Given the description of an element on the screen output the (x, y) to click on. 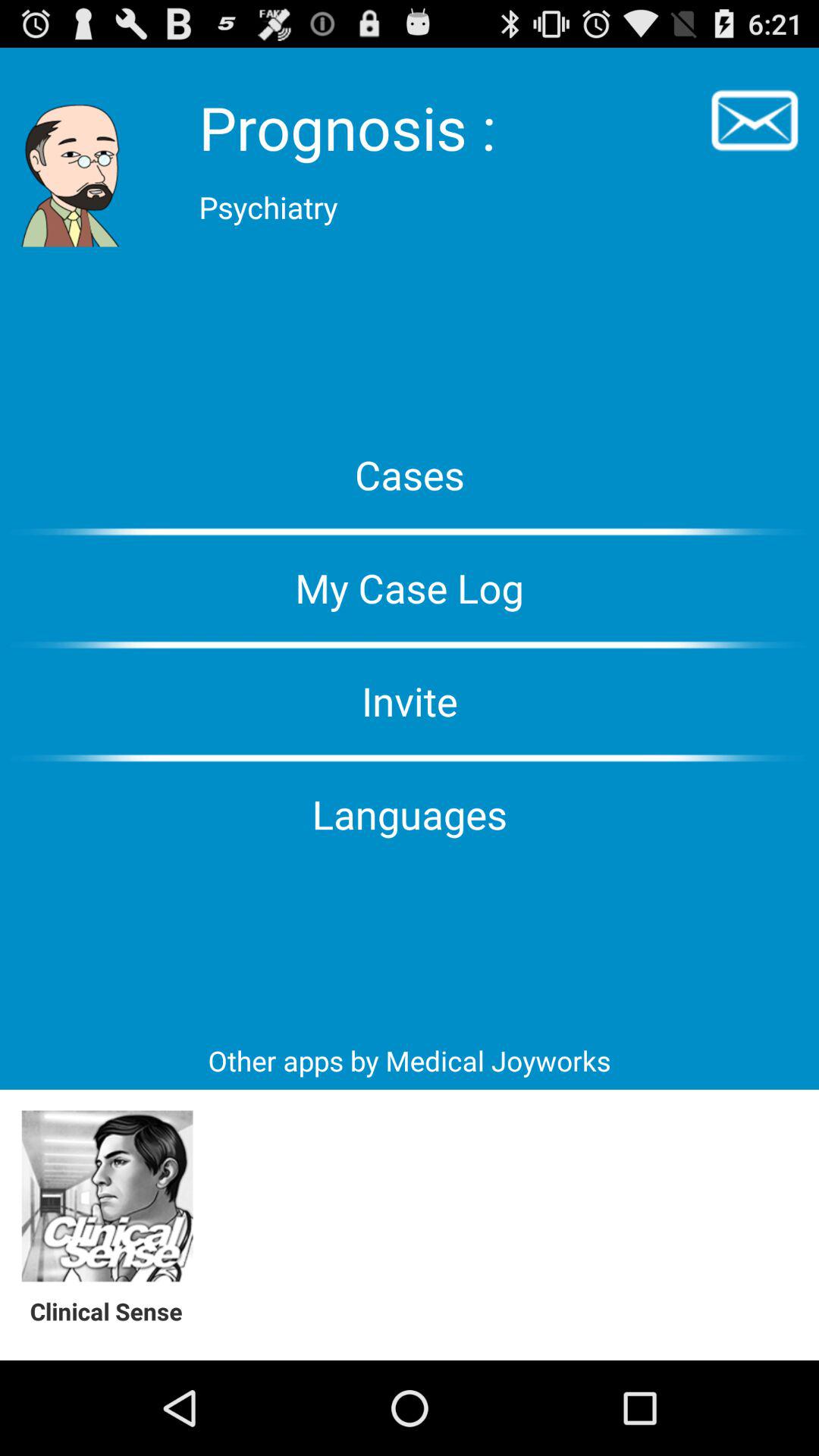
flip until cases icon (409, 474)
